Given the description of an element on the screen output the (x, y) to click on. 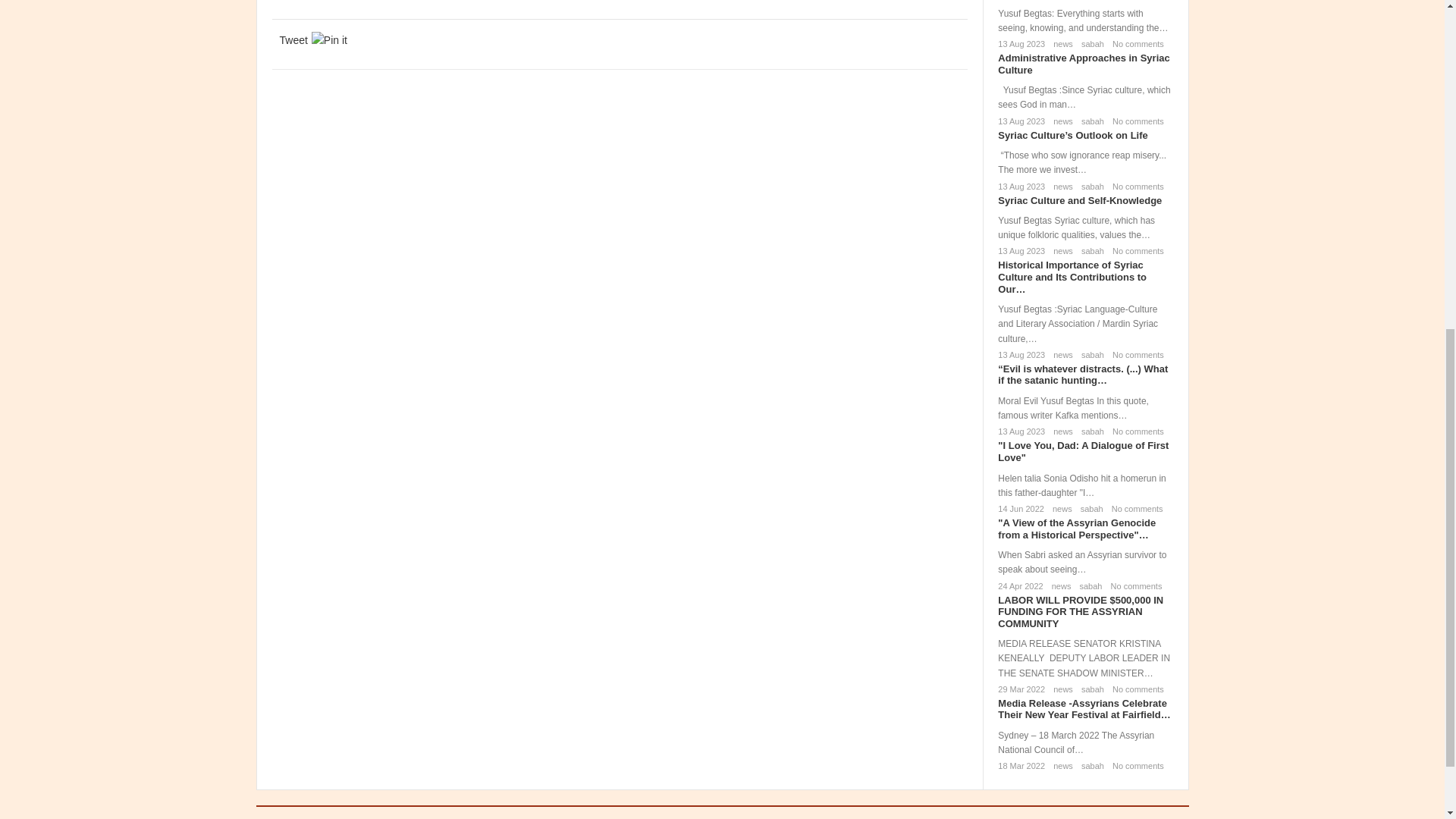
Pin it (329, 39)
Administrative Approaches in Syriac Culture (1083, 64)
Tweet (293, 39)
